Given the description of an element on the screen output the (x, y) to click on. 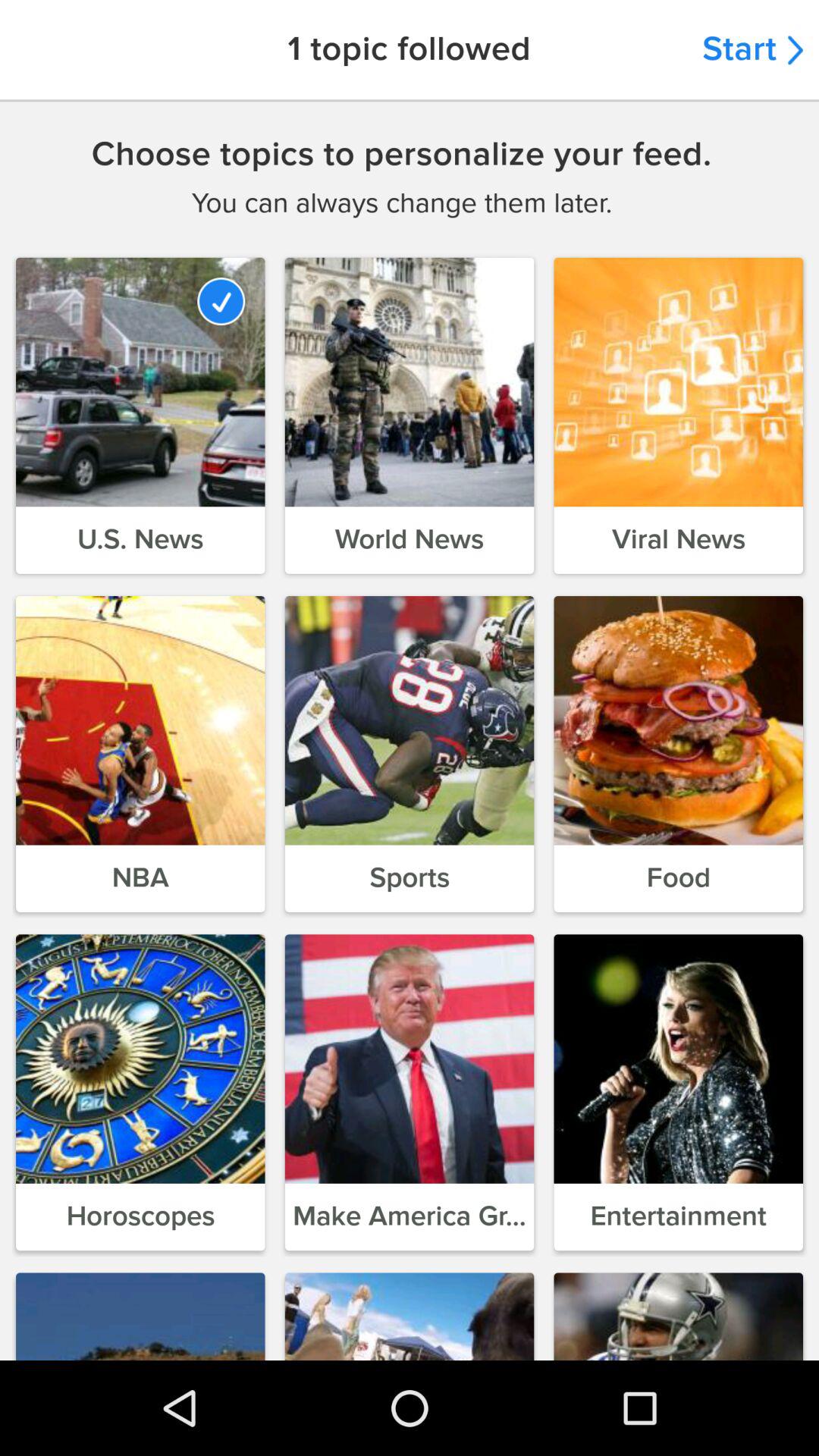
jump until the start item (752, 49)
